Given the description of an element on the screen output the (x, y) to click on. 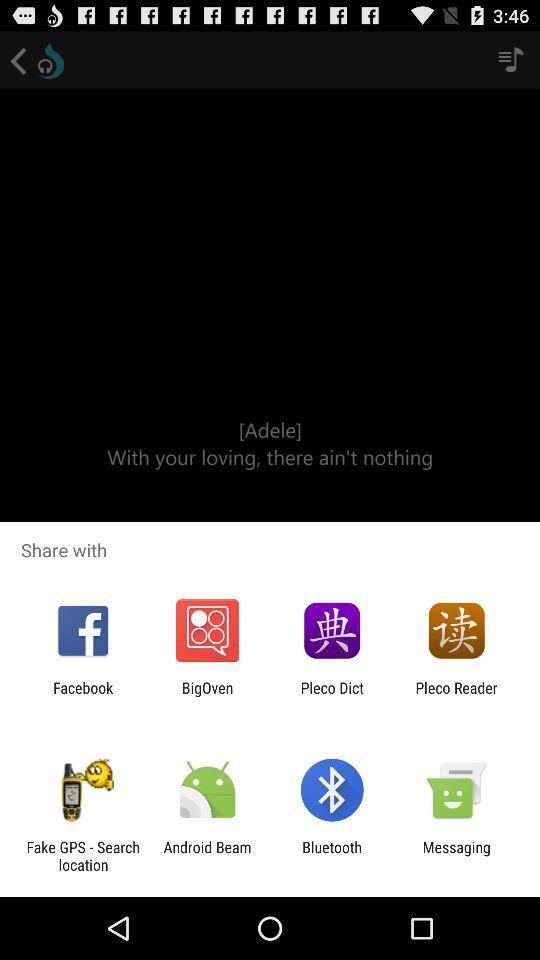
turn off the icon to the right of bigoven app (331, 696)
